Given the description of an element on the screen output the (x, y) to click on. 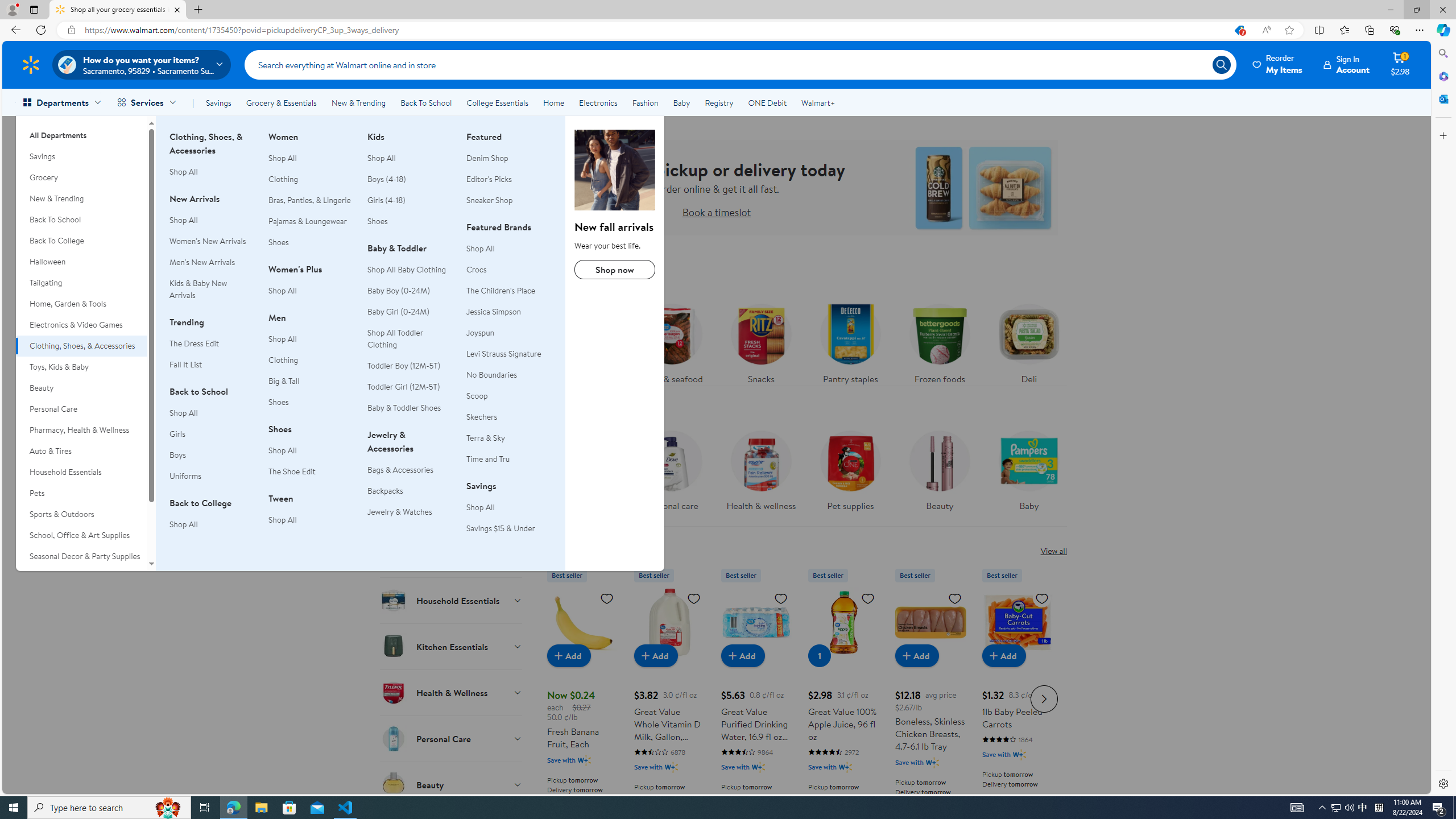
ReorderMy Items (1277, 64)
Time and Tru (508, 458)
Personal care (671, 467)
Editor's Picks (488, 179)
Uniforms (185, 475)
Women's PlusShop All (310, 286)
Joyspun (508, 332)
Sign InAccount (1347, 64)
Sports & Outdoors (81, 513)
Registry (718, 102)
Back To College (81, 240)
Shop All Baby Clothing (409, 269)
